Given the description of an element on the screen output the (x, y) to click on. 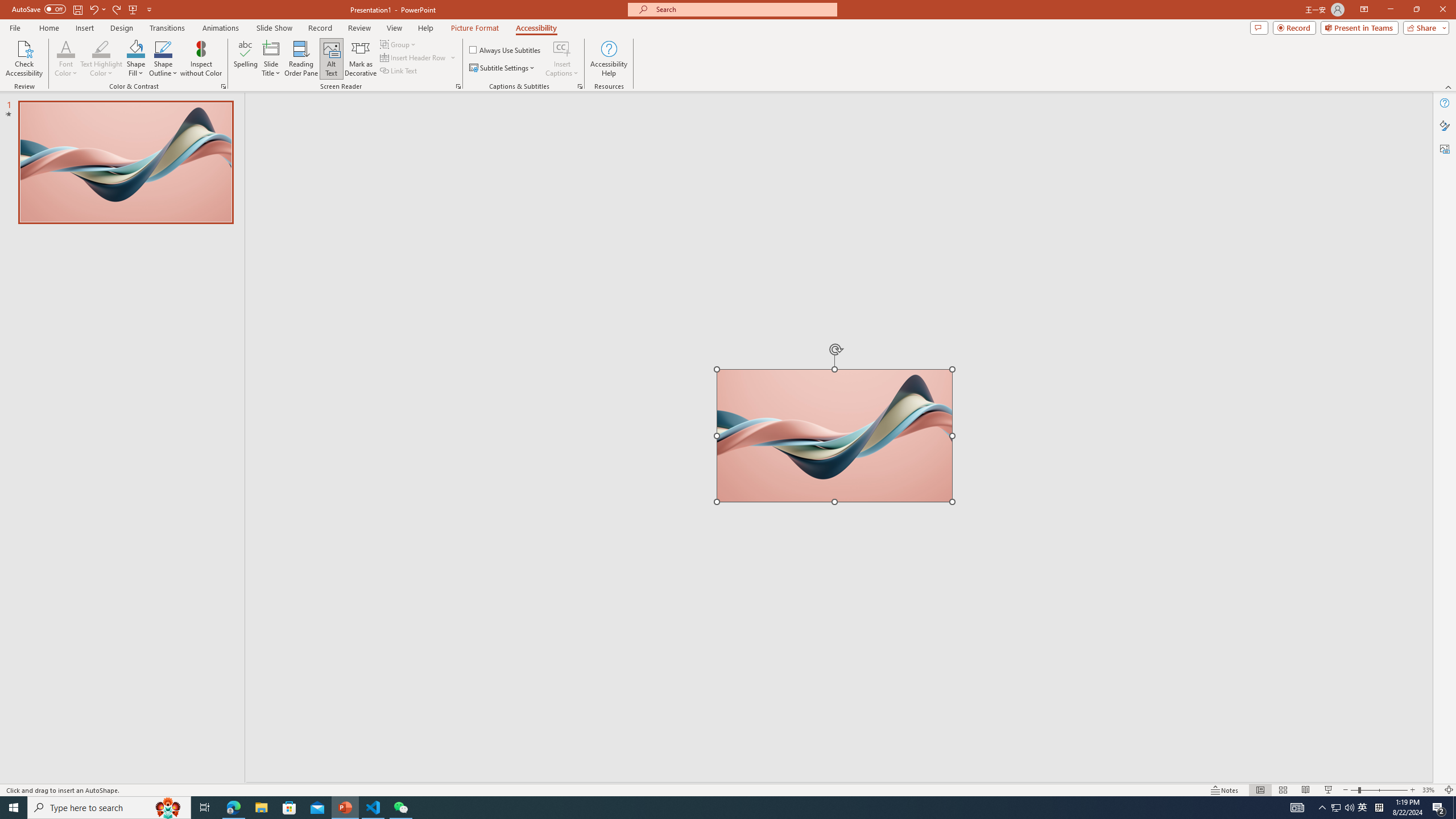
Inspect without Color (201, 58)
Subtitle Settings (502, 67)
